Given the description of an element on the screen output the (x, y) to click on. 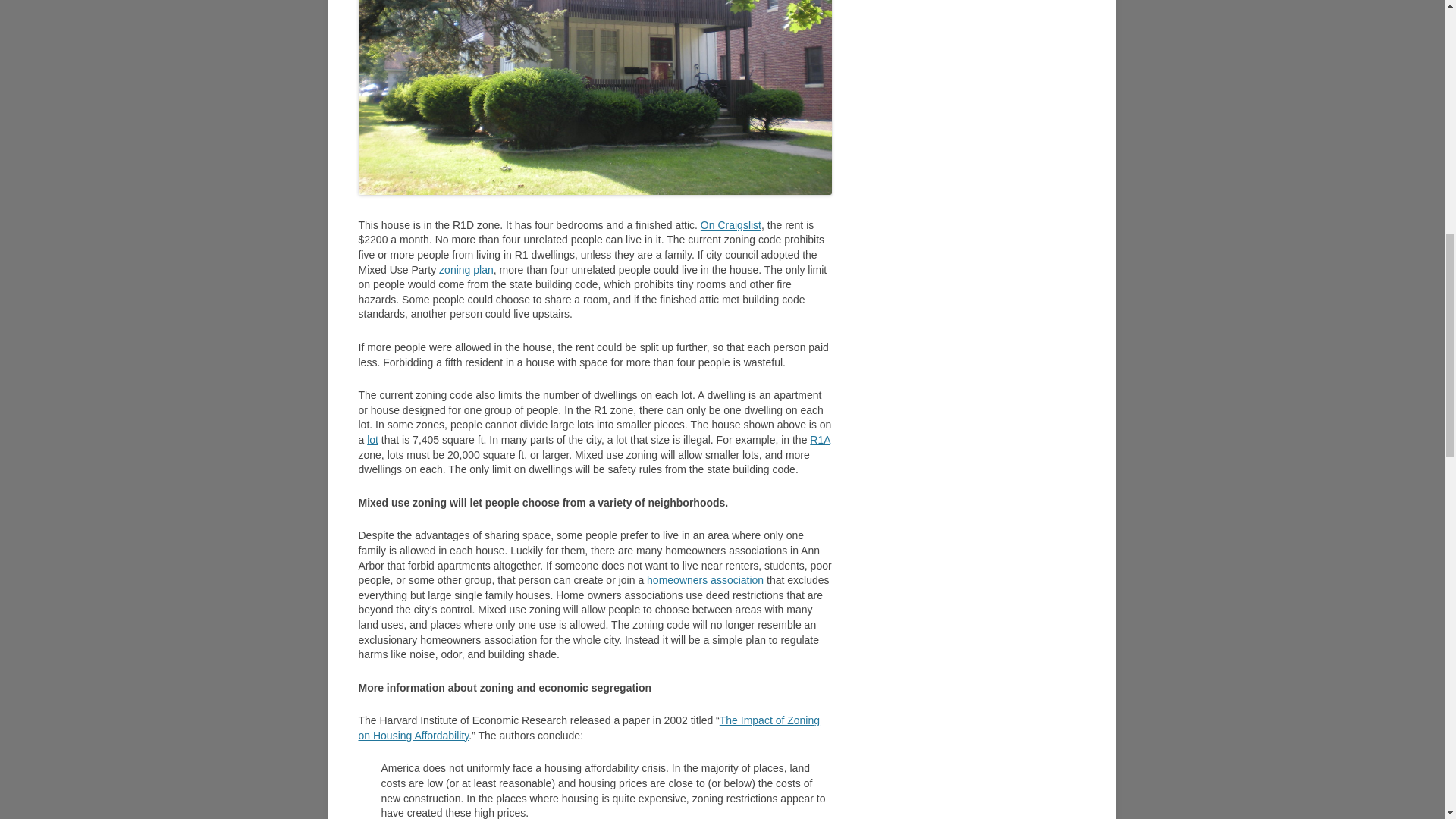
Mixed Use Zoning Plan (466, 269)
R1A (819, 439)
On Craigslist (730, 224)
lot (372, 439)
The Impact of Zoning on Housing Affordability (588, 728)
zoning plan (466, 269)
homeowners association (704, 580)
